Given the description of an element on the screen output the (x, y) to click on. 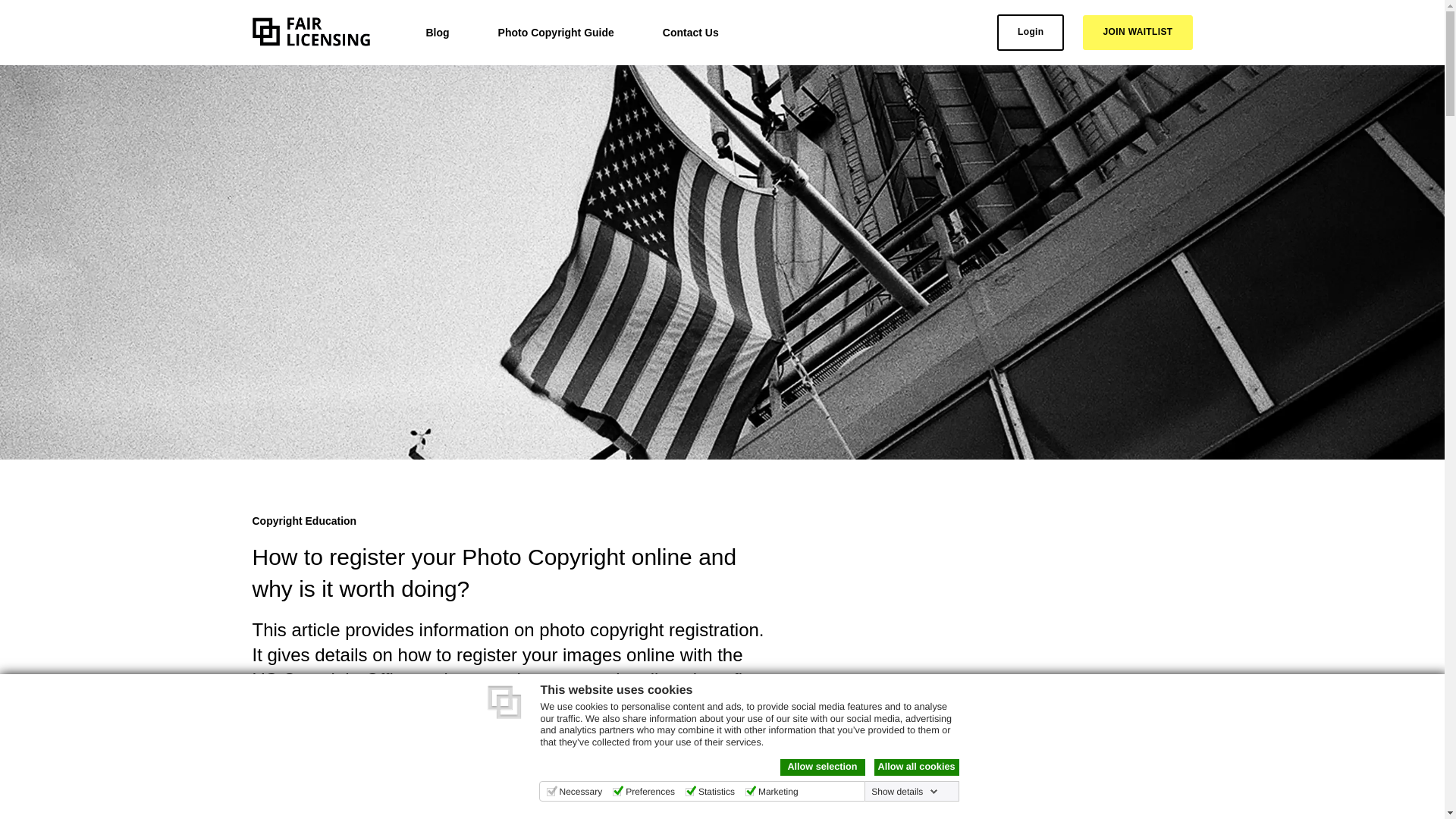
Show details (903, 791)
Blog (437, 32)
Allow all cookies (915, 767)
Allow selection (821, 767)
